Given the description of an element on the screen output the (x, y) to click on. 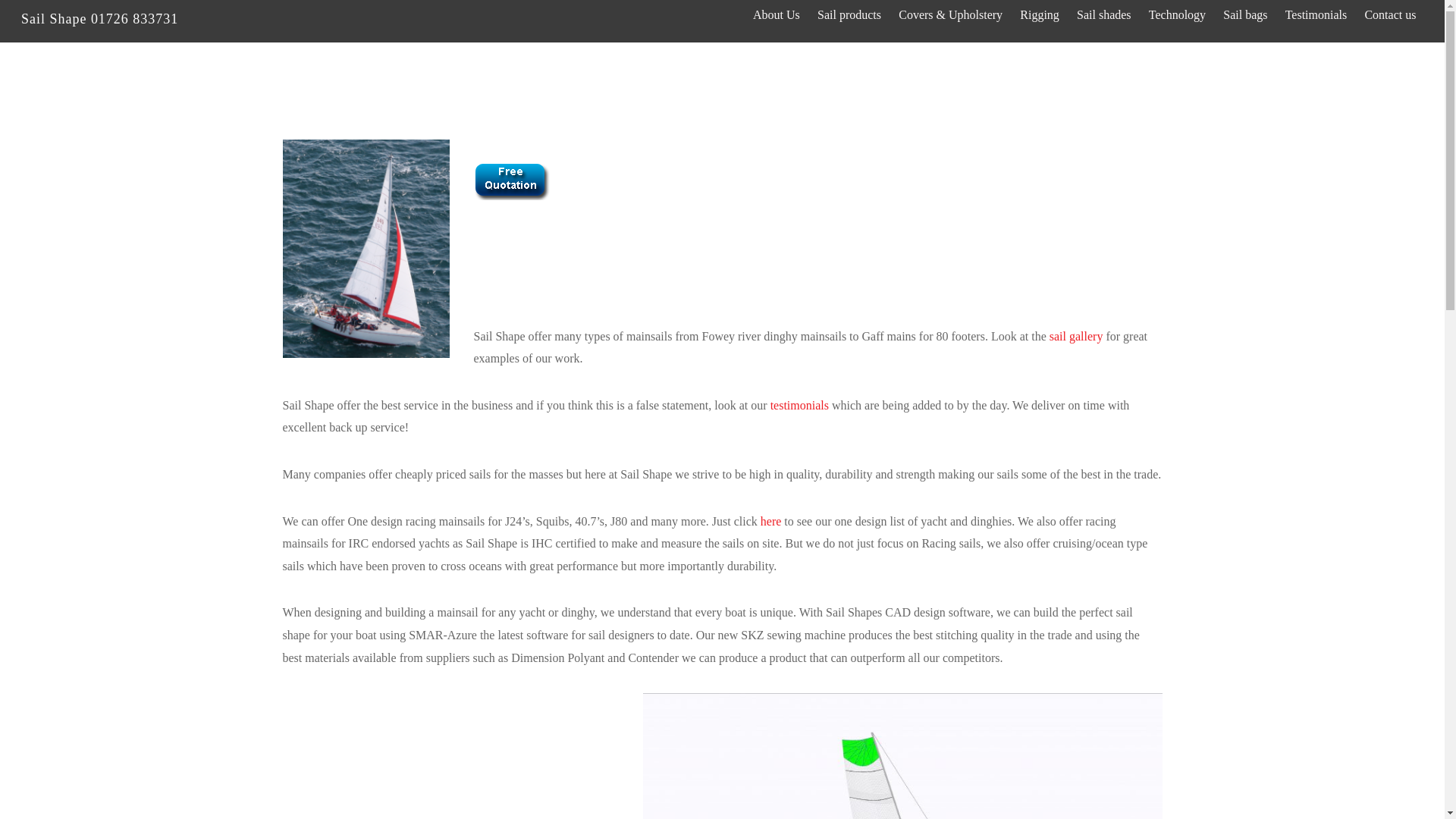
Sail Shape 01726 833731 (99, 18)
Sail products (848, 14)
Sail Shape 01726 833731 (99, 18)
About Us (775, 14)
Testimonials (799, 404)
One design (770, 521)
